Given the description of an element on the screen output the (x, y) to click on. 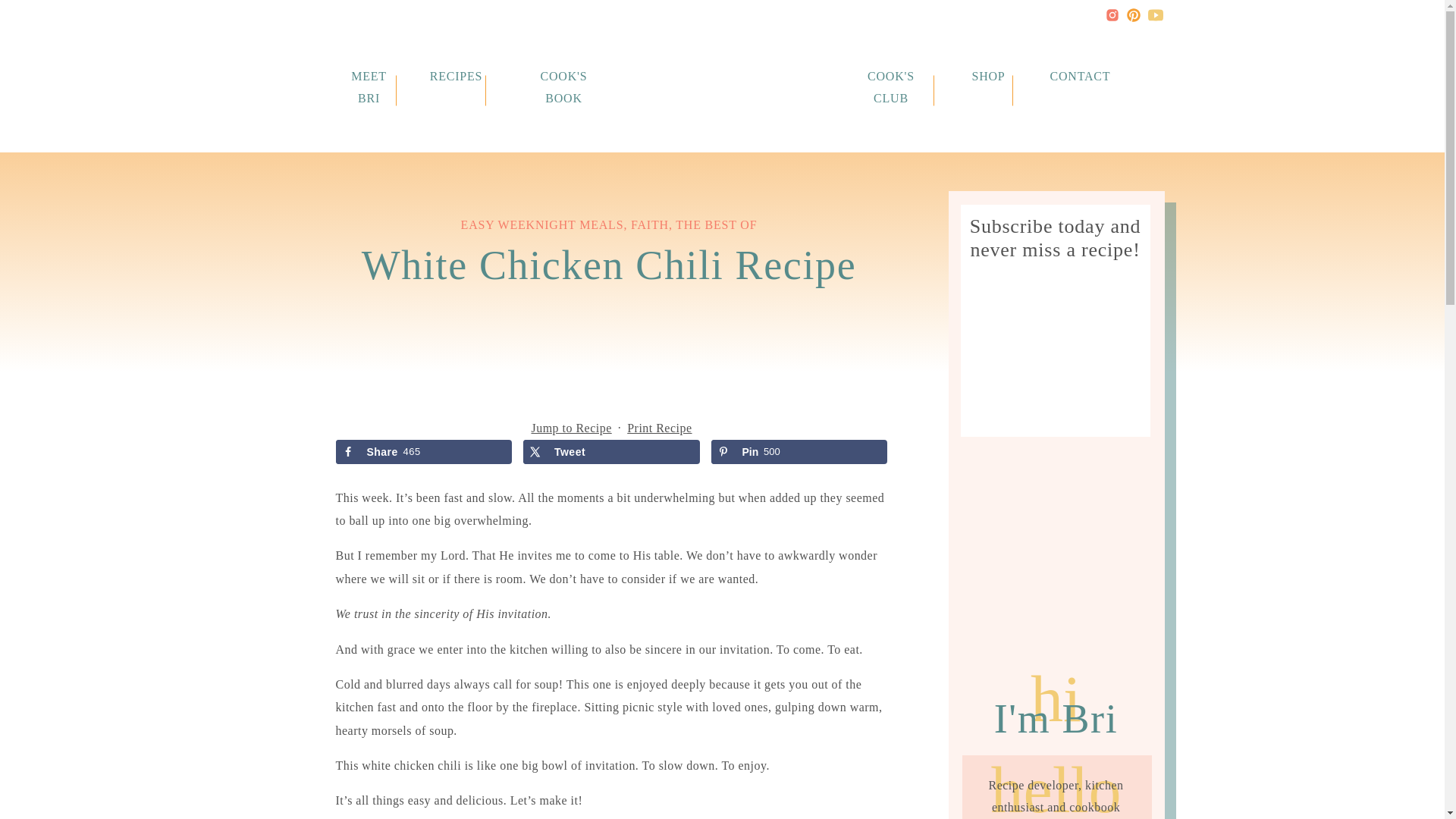
FAITH (649, 224)
COOK'S CLUB (889, 75)
Print Recipe (659, 427)
Jump to Recipe (570, 427)
COOK'S BOOK (563, 75)
Tweet (611, 451)
Share on Facebook (423, 451)
THE BEST OF (716, 224)
Share on X (611, 451)
MEET BRI (368, 75)
CONTACT (1076, 75)
Subscribe today and never miss a recipe! (1055, 242)
Save to Pinterest (799, 451)
RECIPES (456, 75)
EASY WEEKNIGHT MEALS (542, 224)
